Given the description of an element on the screen output the (x, y) to click on. 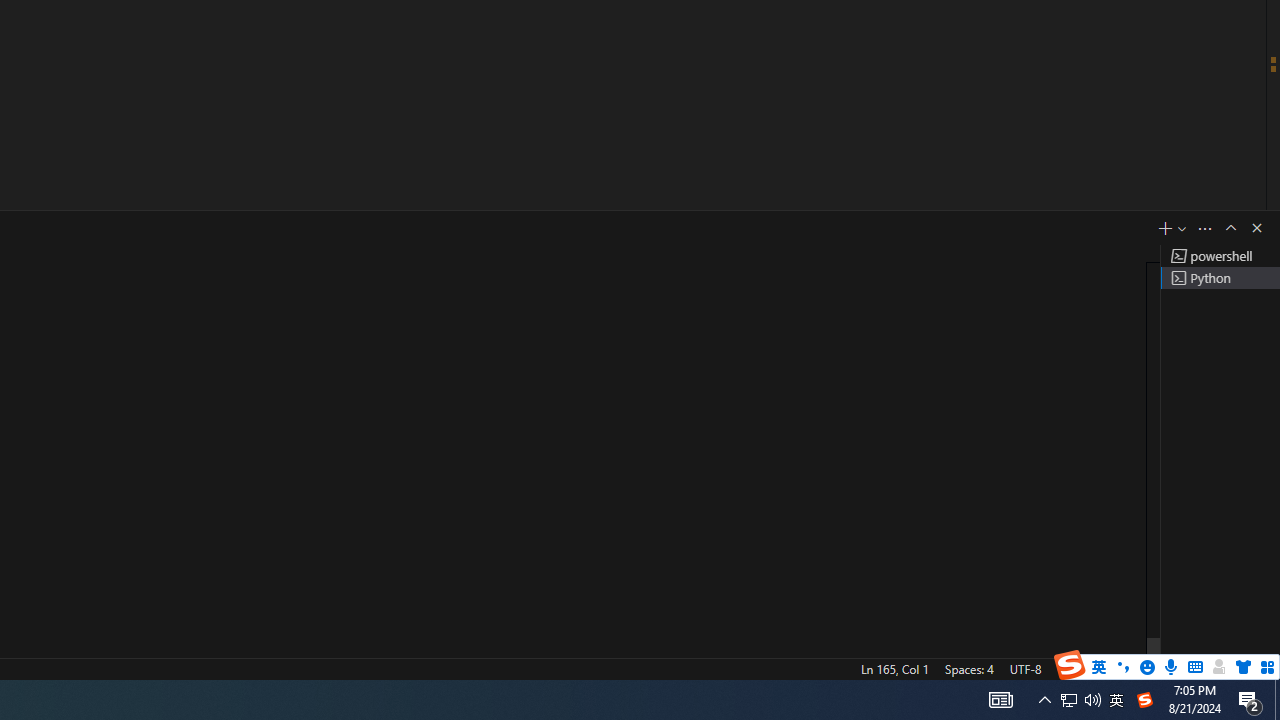
Maximize Panel Size (1230, 227)
